Given the description of an element on the screen output the (x, y) to click on. 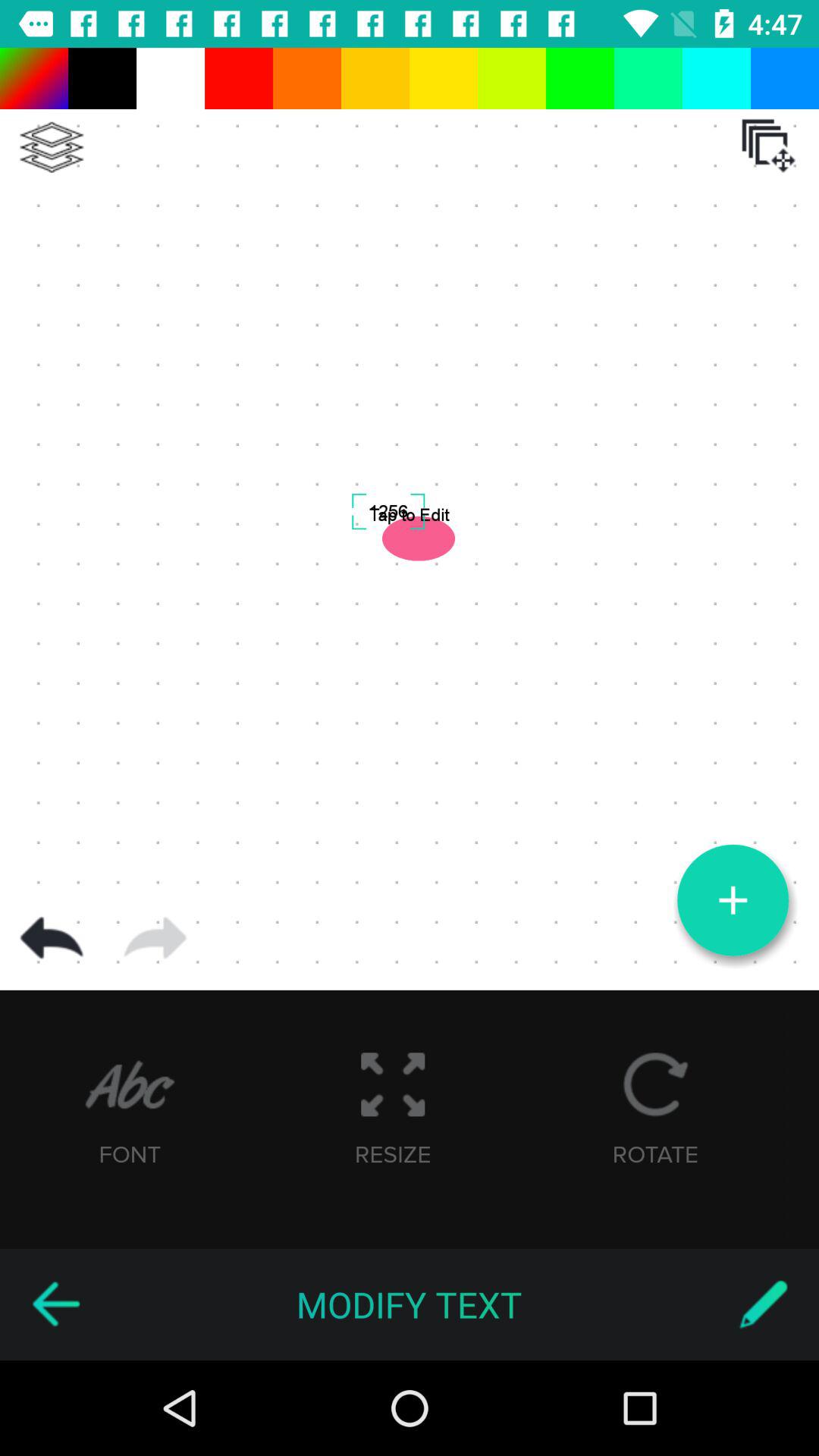
next (155, 938)
